Given the description of an element on the screen output the (x, y) to click on. 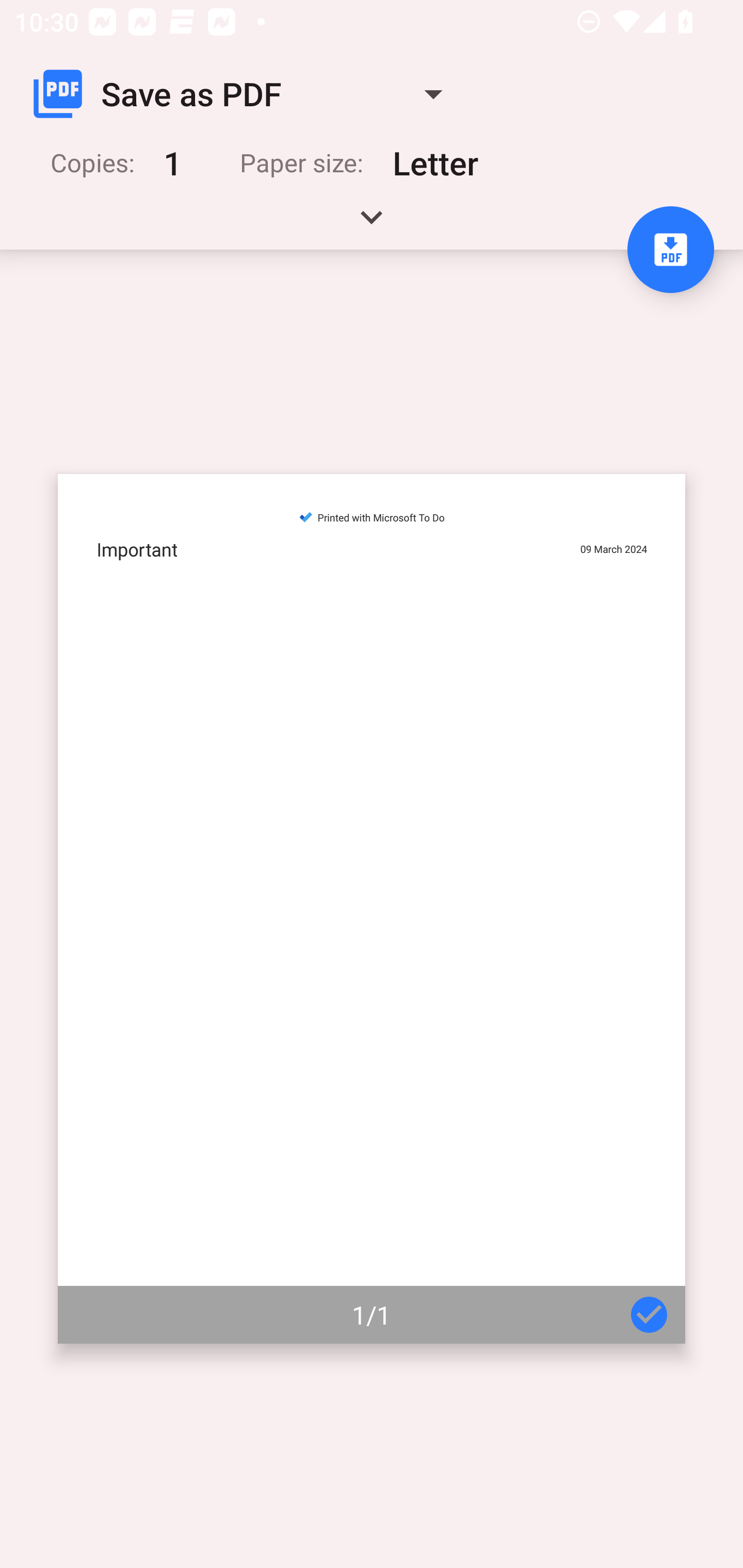
Save as PDF (245, 93)
Expand handle (371, 224)
Save to PDF (670, 249)
Page 1 of 1 1/1 (371, 908)
